Given the description of an element on the screen output the (x, y) to click on. 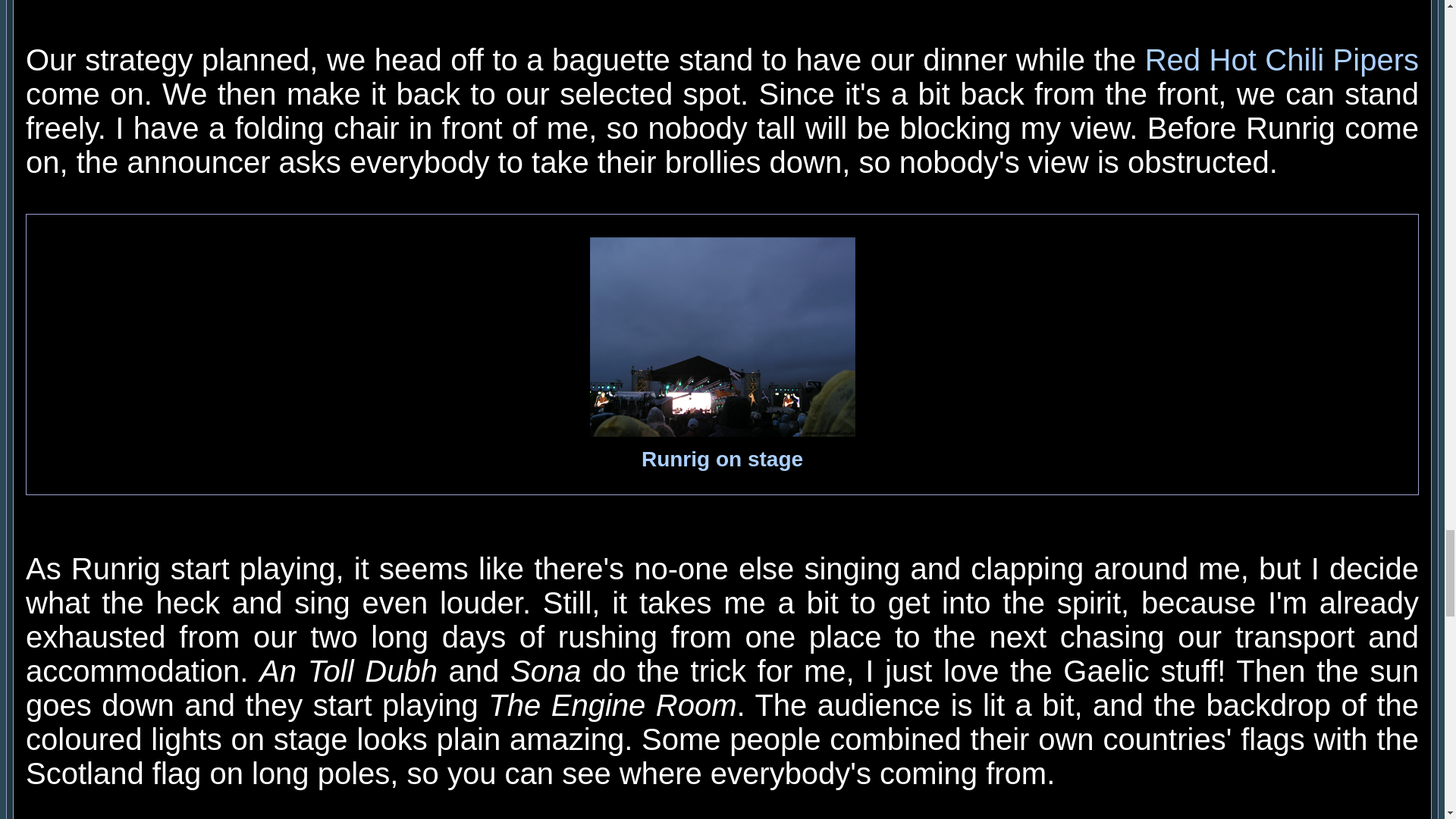
Red Hot Chili Pipers (1281, 59)
